Given the description of an element on the screen output the (x, y) to click on. 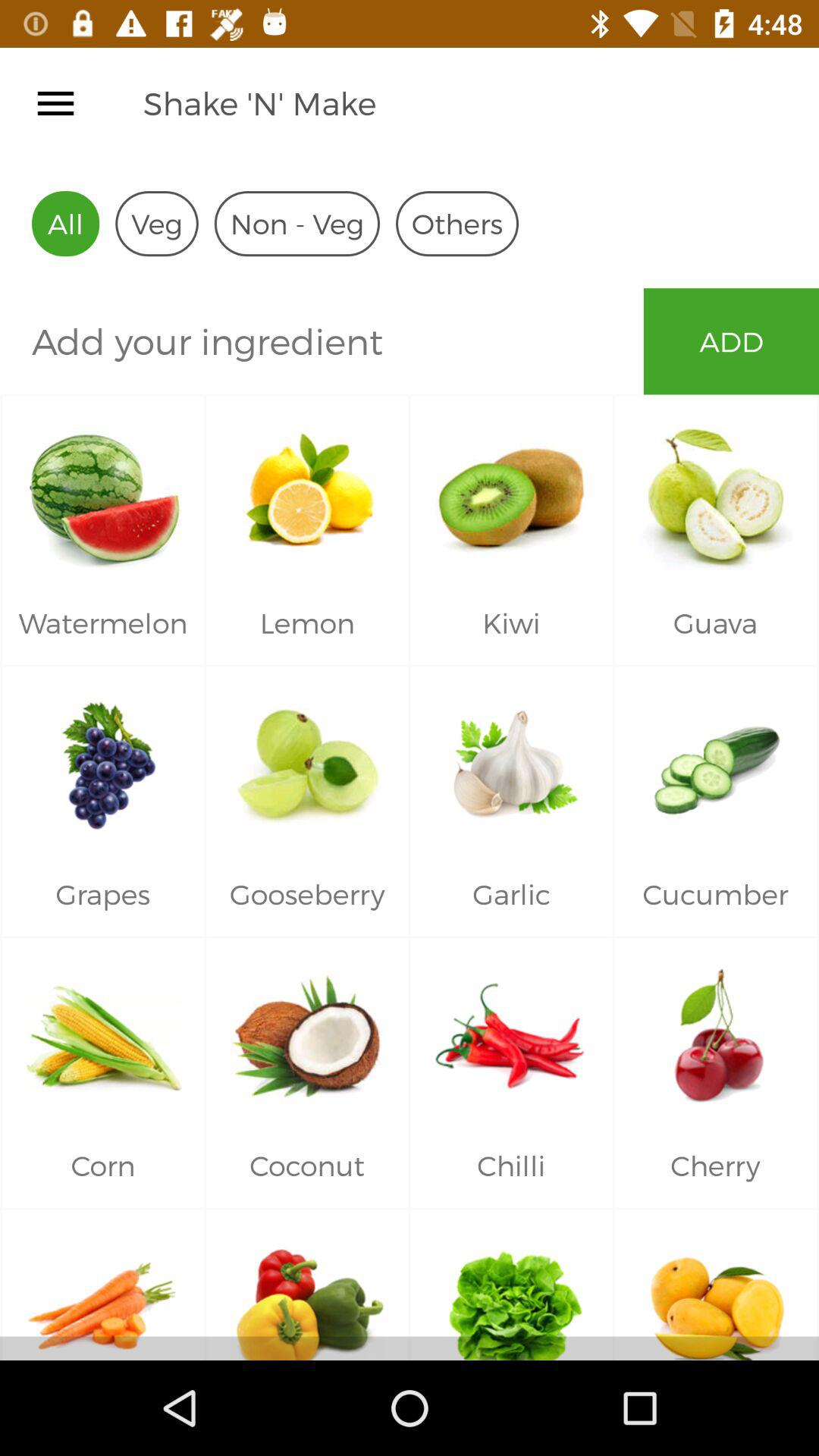
add ingredient (321, 341)
